Given the description of an element on the screen output the (x, y) to click on. 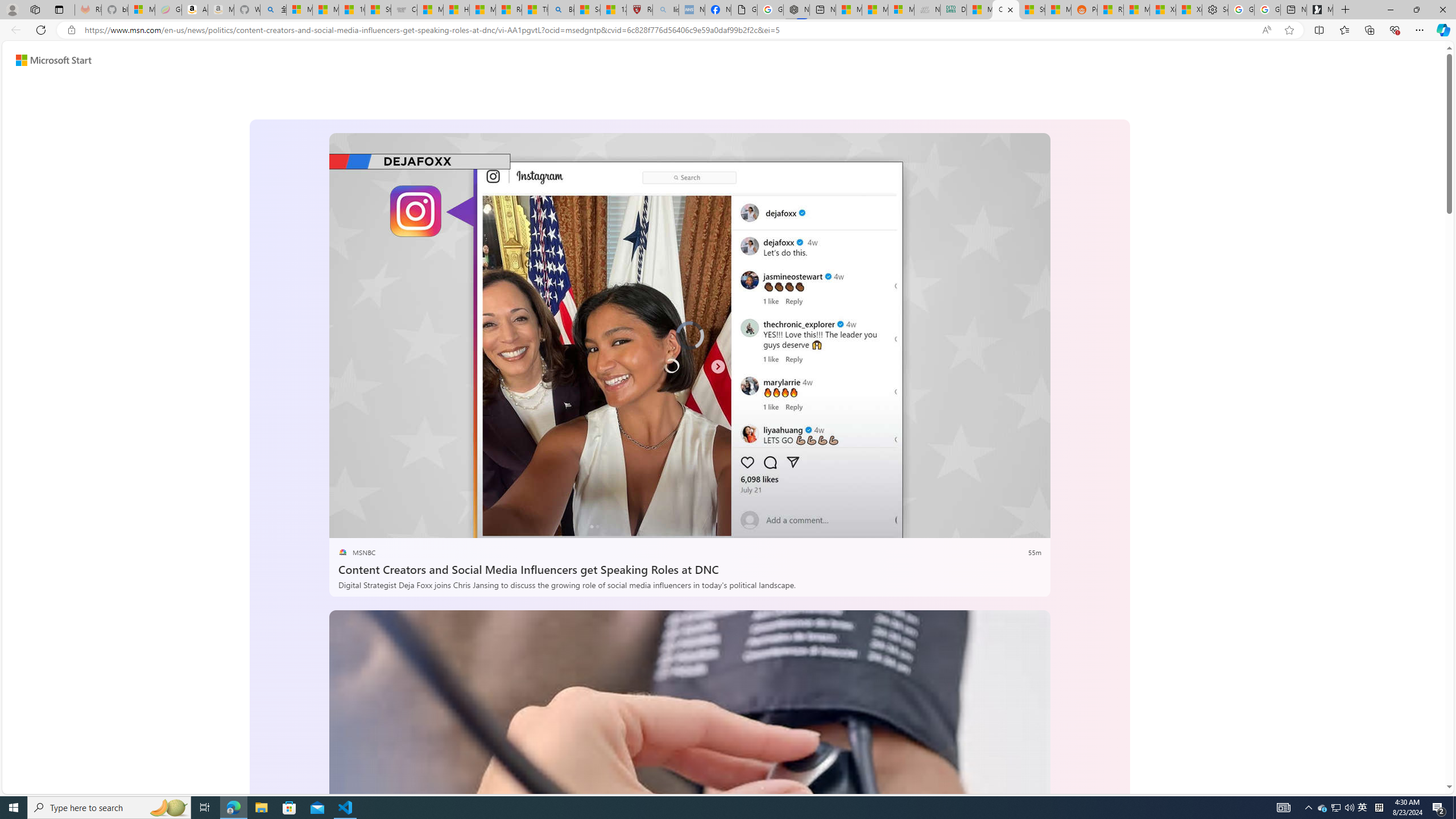
R******* | Trusted Community Engagement and Contributions (1110, 9)
12 Popular Science Lies that Must be Corrected (613, 9)
Progress Bar (689, 510)
Seek Forward (391, 525)
Bing (561, 9)
